Given the description of an element on the screen output the (x, y) to click on. 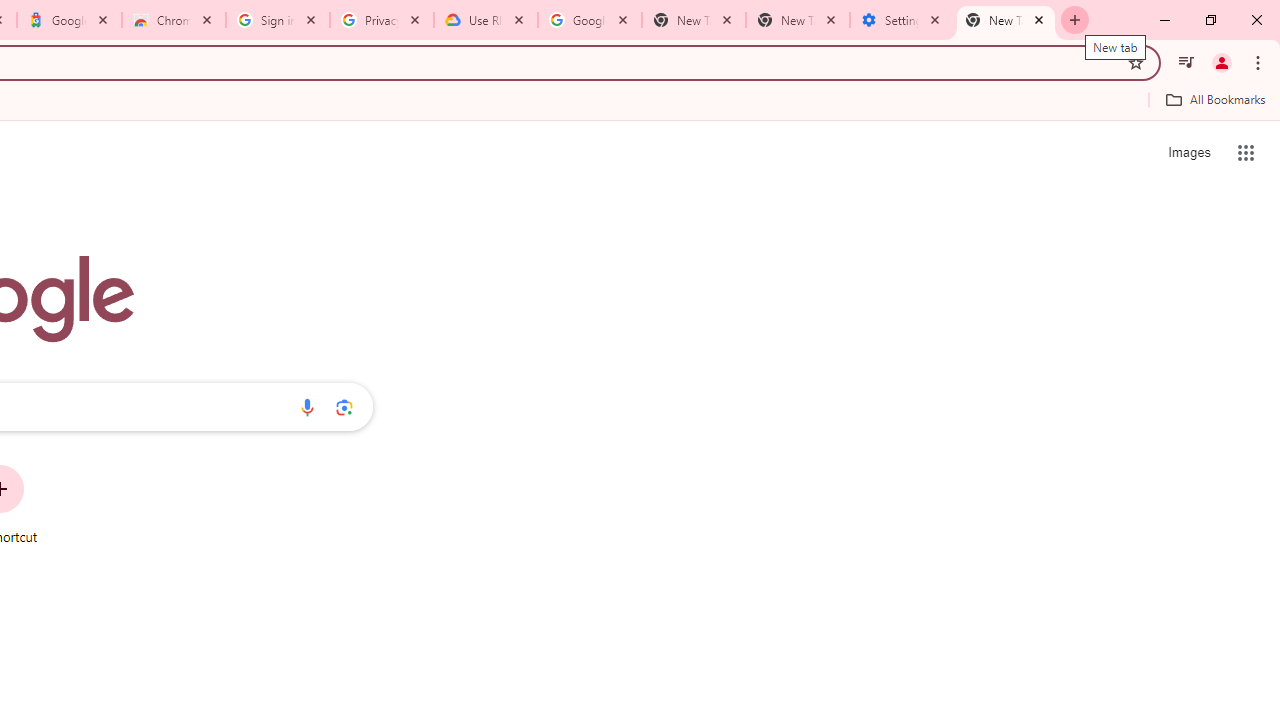
Settings - System (901, 20)
Sign in - Google Accounts (278, 20)
